Given the description of an element on the screen output the (x, y) to click on. 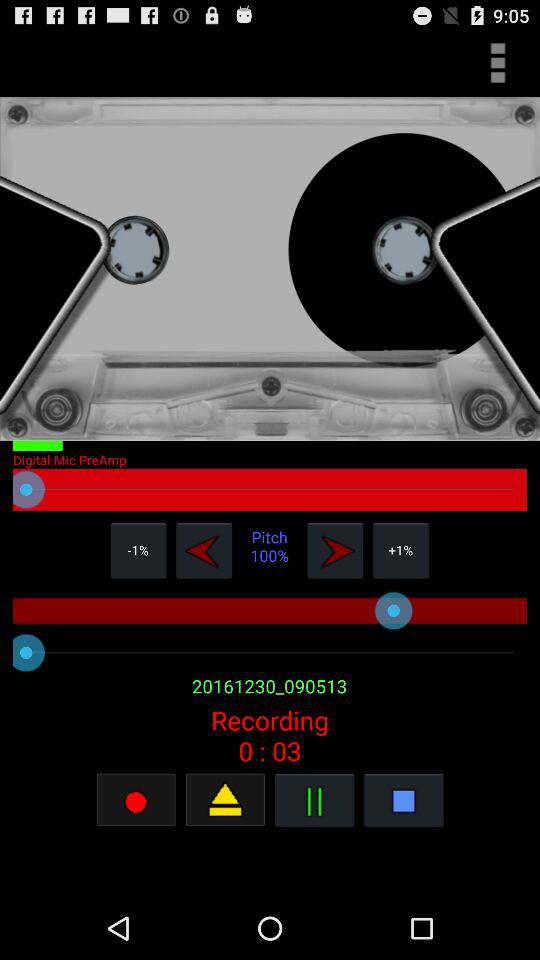
play the recording (225, 799)
